Given the description of an element on the screen output the (x, y) to click on. 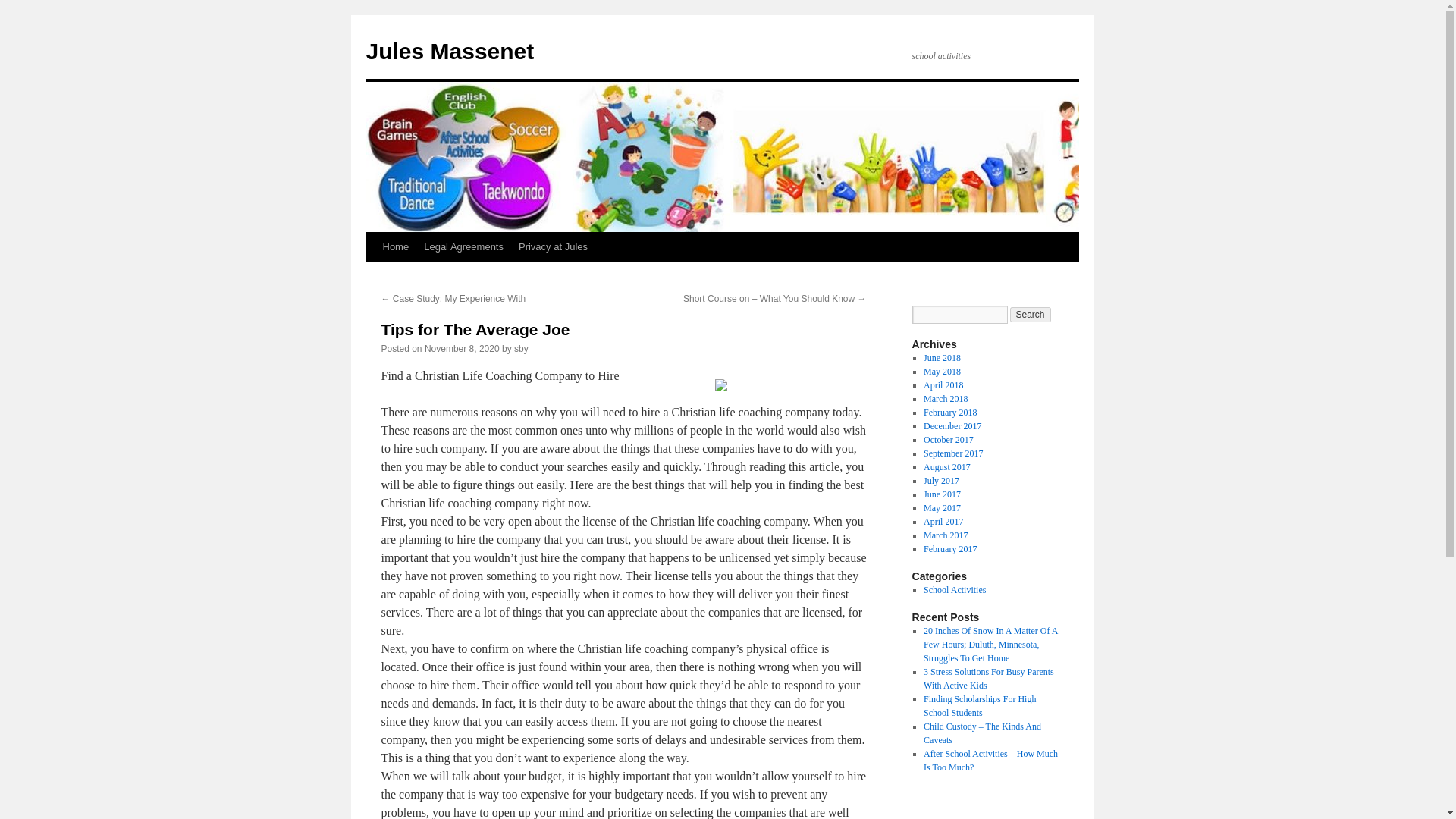
October 2017 (948, 439)
June 2018 (941, 357)
March 2017 (945, 534)
February 2018 (949, 412)
July 2017 (941, 480)
Legal Agreements (463, 246)
May 2017 (941, 507)
6:52 pm (462, 348)
School Activities (954, 589)
April 2018 (942, 385)
Home (395, 246)
May 2018 (941, 371)
February 2017 (949, 548)
June 2017 (941, 493)
